Given the description of an element on the screen output the (x, y) to click on. 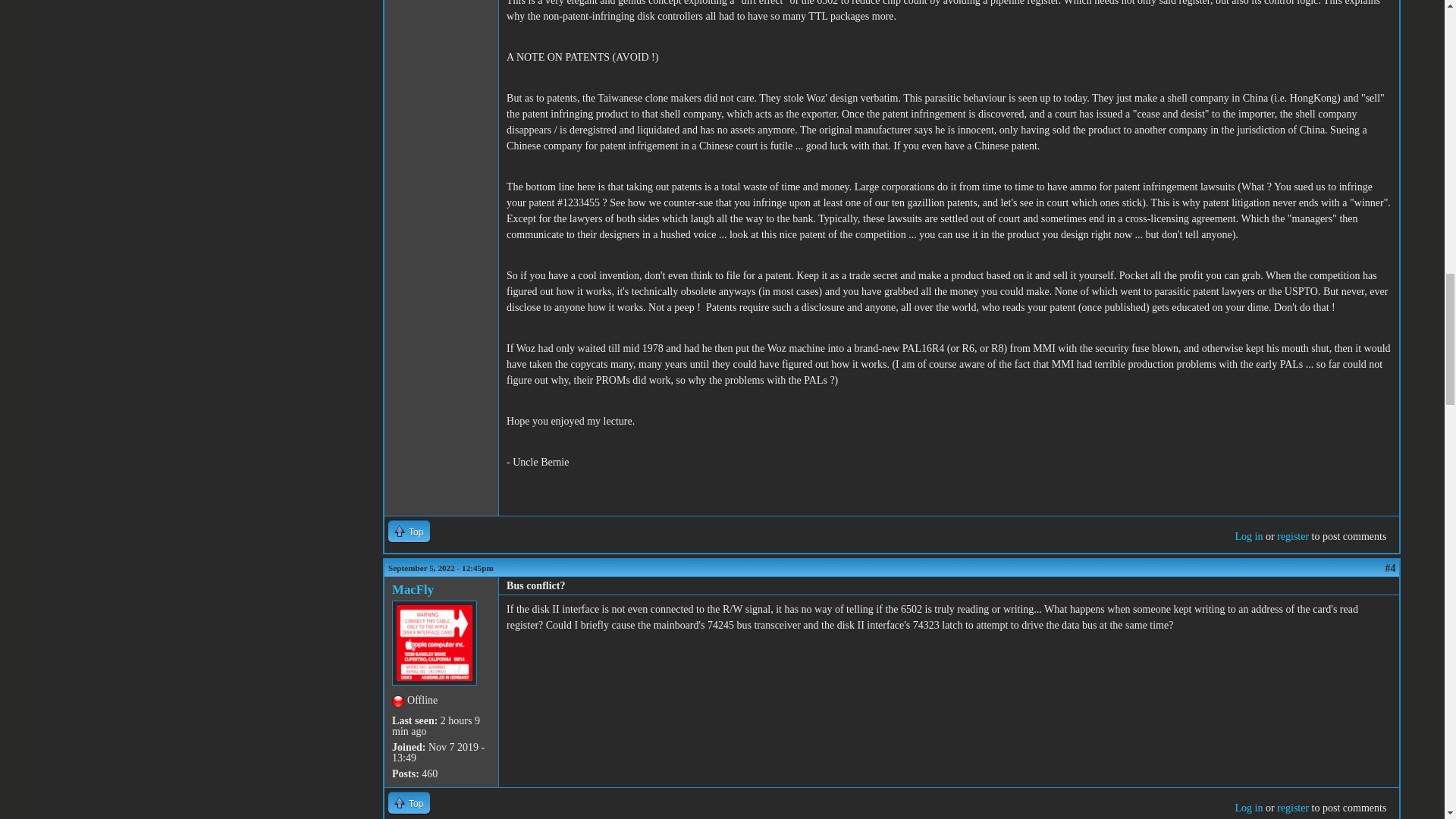
Top (408, 531)
Jump to top of page (408, 802)
Jump to top of page (408, 531)
View user profile. (412, 589)
MacFly's picture (434, 642)
